Given the description of an element on the screen output the (x, y) to click on. 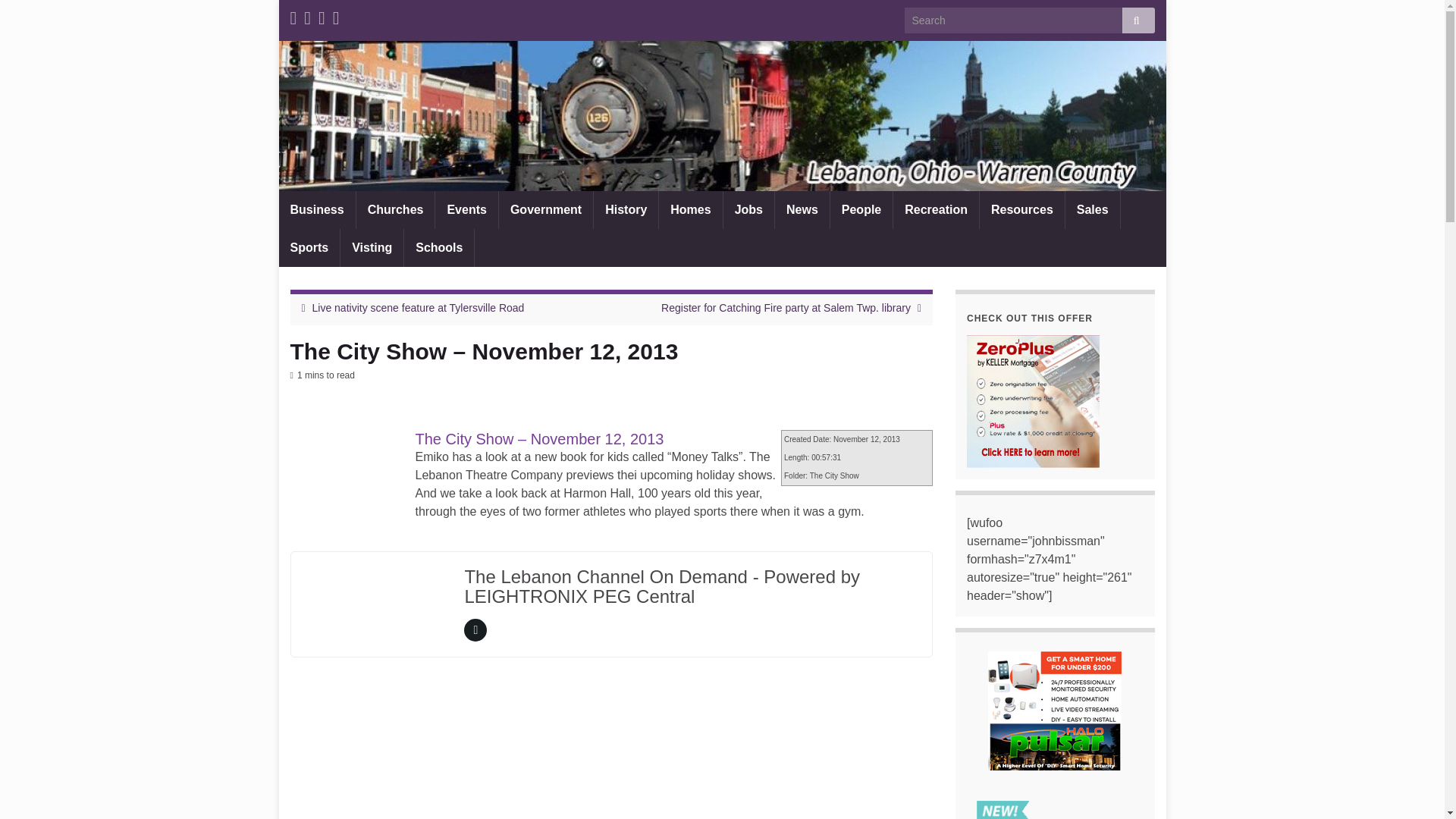
cropped-cropped-webbannerwithboxforblog.jpg (722, 115)
People (860, 209)
Government (545, 209)
Resources (1021, 209)
Schools (439, 247)
Visting (371, 247)
Churches (395, 209)
Homes (690, 209)
Jobs (748, 209)
Business (317, 209)
News (801, 209)
Events (466, 209)
Sports (309, 247)
Register for Catching Fire party at Salem Twp. library (786, 307)
